Given the description of an element on the screen output the (x, y) to click on. 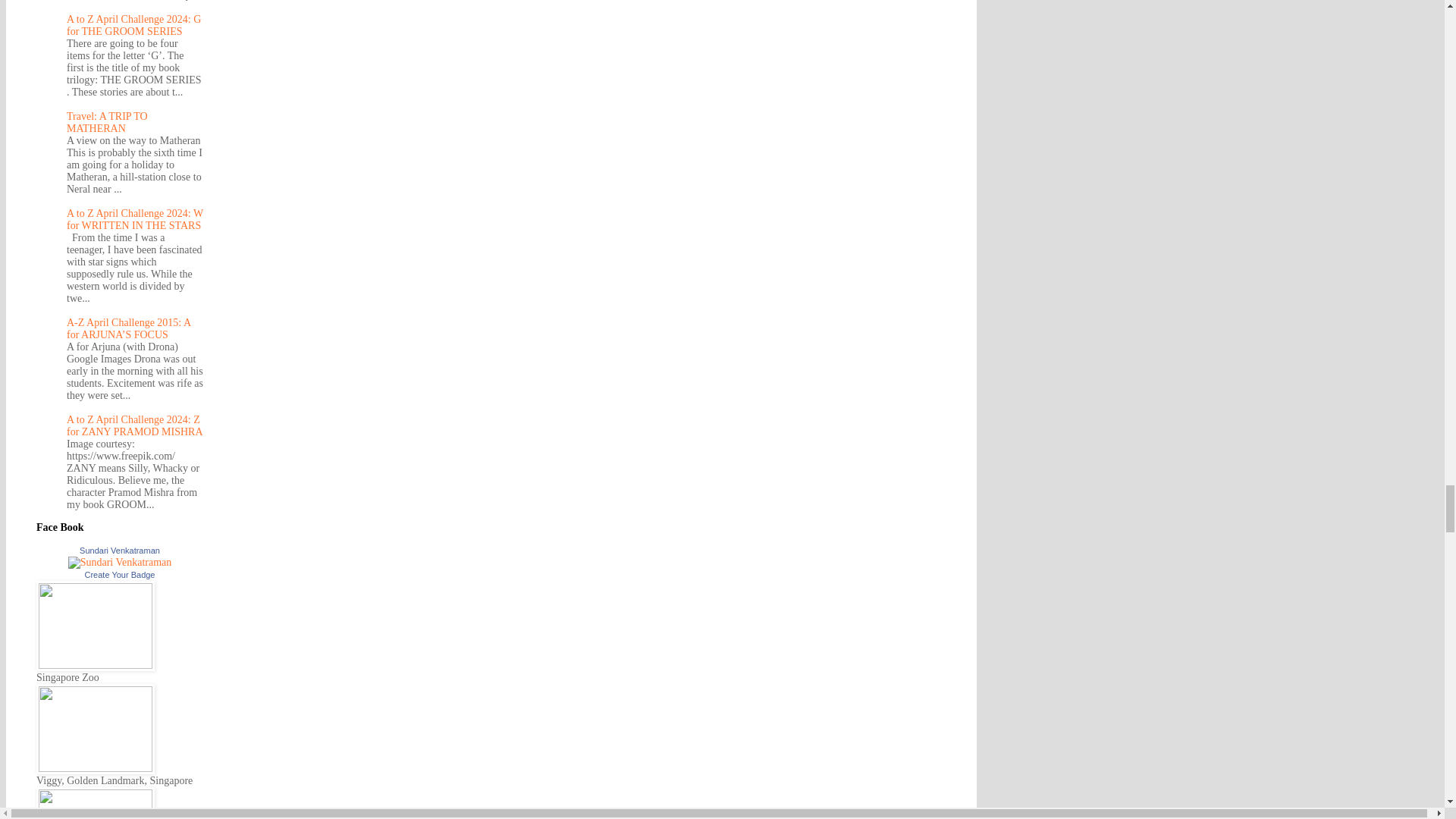
Make your own badge! (119, 574)
Sundari Venkatraman (119, 562)
Sundari Venkatraman (120, 550)
